Given the description of an element on the screen output the (x, y) to click on. 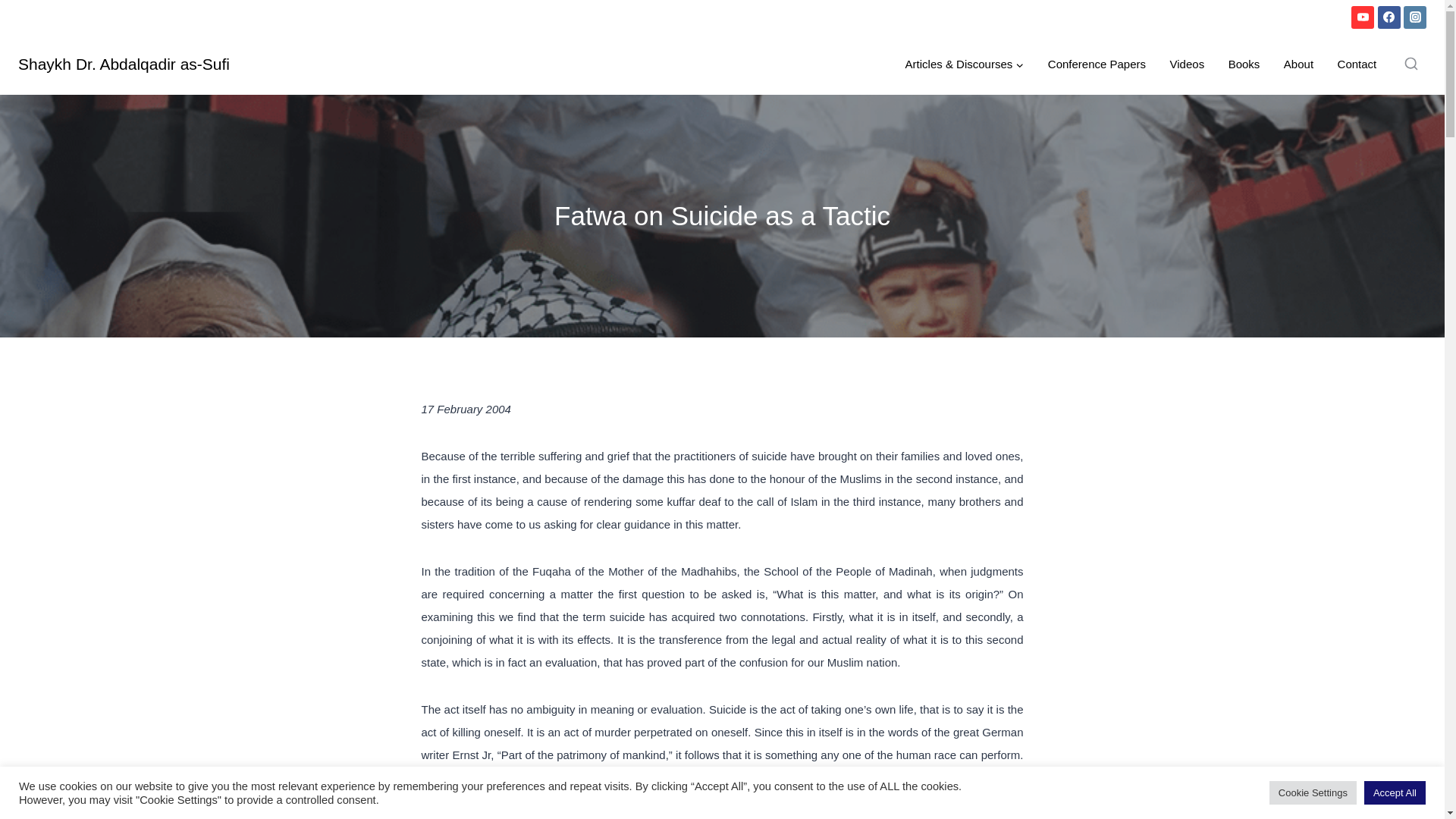
Shaykh Dr. Abdalqadir as-Sufi (123, 63)
Videos (1186, 64)
Books (1243, 64)
Contact (1356, 64)
Conference Papers (1096, 64)
